Given the description of an element on the screen output the (x, y) to click on. 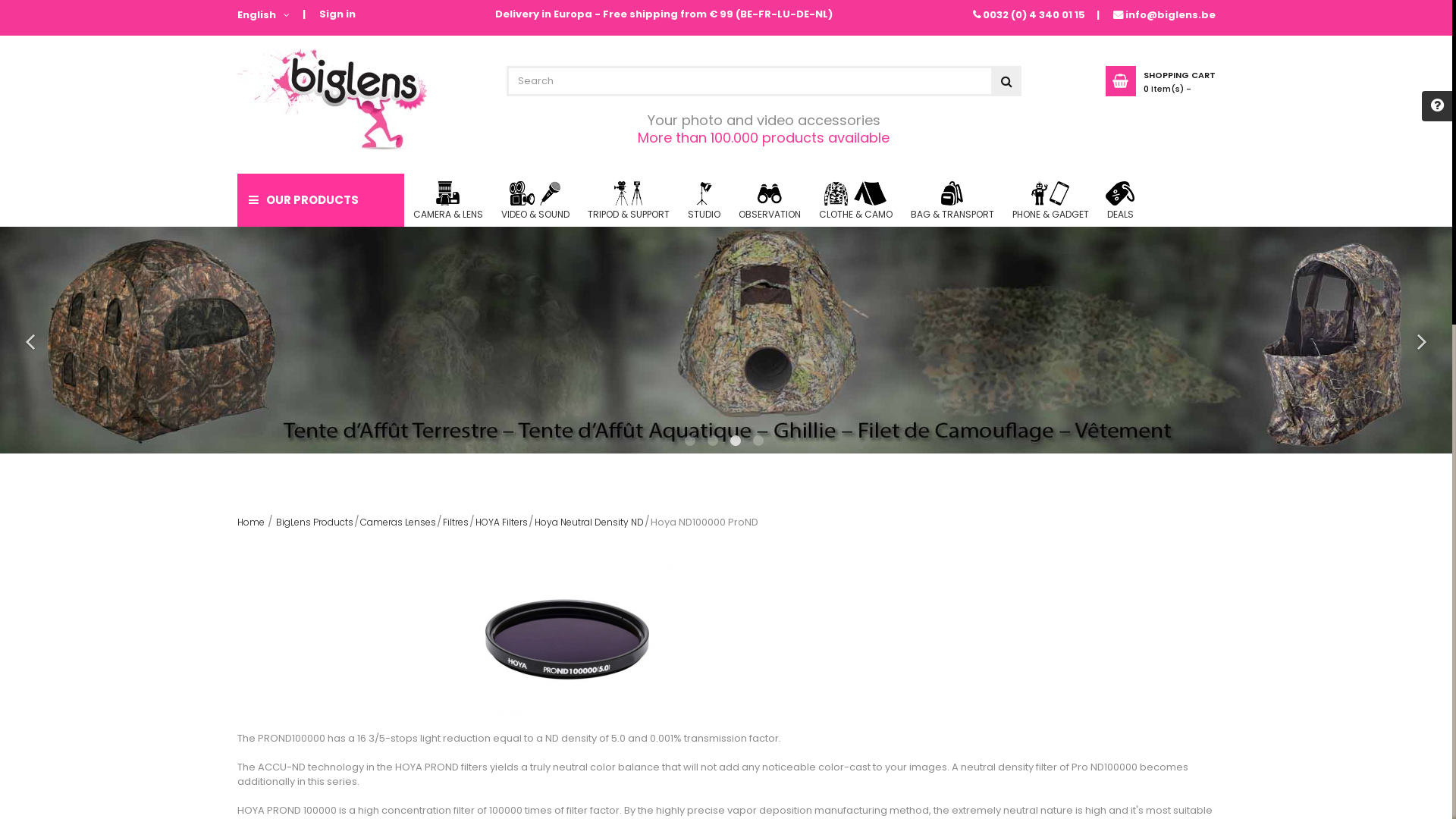
CLOTHE & CAMO Element type: text (855, 199)
4 Element type: text (759, 442)
Previous Element type: text (29, 341)
DEALS Element type: text (1120, 199)
Filtres Element type: text (455, 522)
2 Element type: text (713, 442)
3 Element type: text (736, 442)
TRIPOD & SUPPORT Element type: text (627, 199)
info@biglens.be Element type: text (1170, 14)
Cameras Lenses Element type: text (397, 522)
Hoya Neutral Density ND Element type: text (588, 522)
Big Lens Photo - Video - Multimedia Element type: hover (331, 99)
Home Element type: text (249, 522)
1 Element type: text (691, 442)
Next Element type: text (1421, 341)
CAMERA & LENS Element type: text (447, 199)
BAG & TRANSPORT Element type: text (951, 199)
SHOPPING CART
0 Item(s) - Element type: text (1160, 80)
PHONE & GADGET Element type: text (1049, 199)
BigLens Products Element type: text (314, 522)
OBSERVATION Element type: text (769, 199)
Sign in Element type: text (336, 14)
0032 (0) 4 340 01 15 Element type: text (1033, 14)
STUDIO Element type: text (702, 199)
HOYA Filters Element type: text (500, 522)
VIDEO & SOUND Element type: text (534, 199)
More than 100.000 products available Element type: text (763, 137)
